Given the description of an element on the screen output the (x, y) to click on. 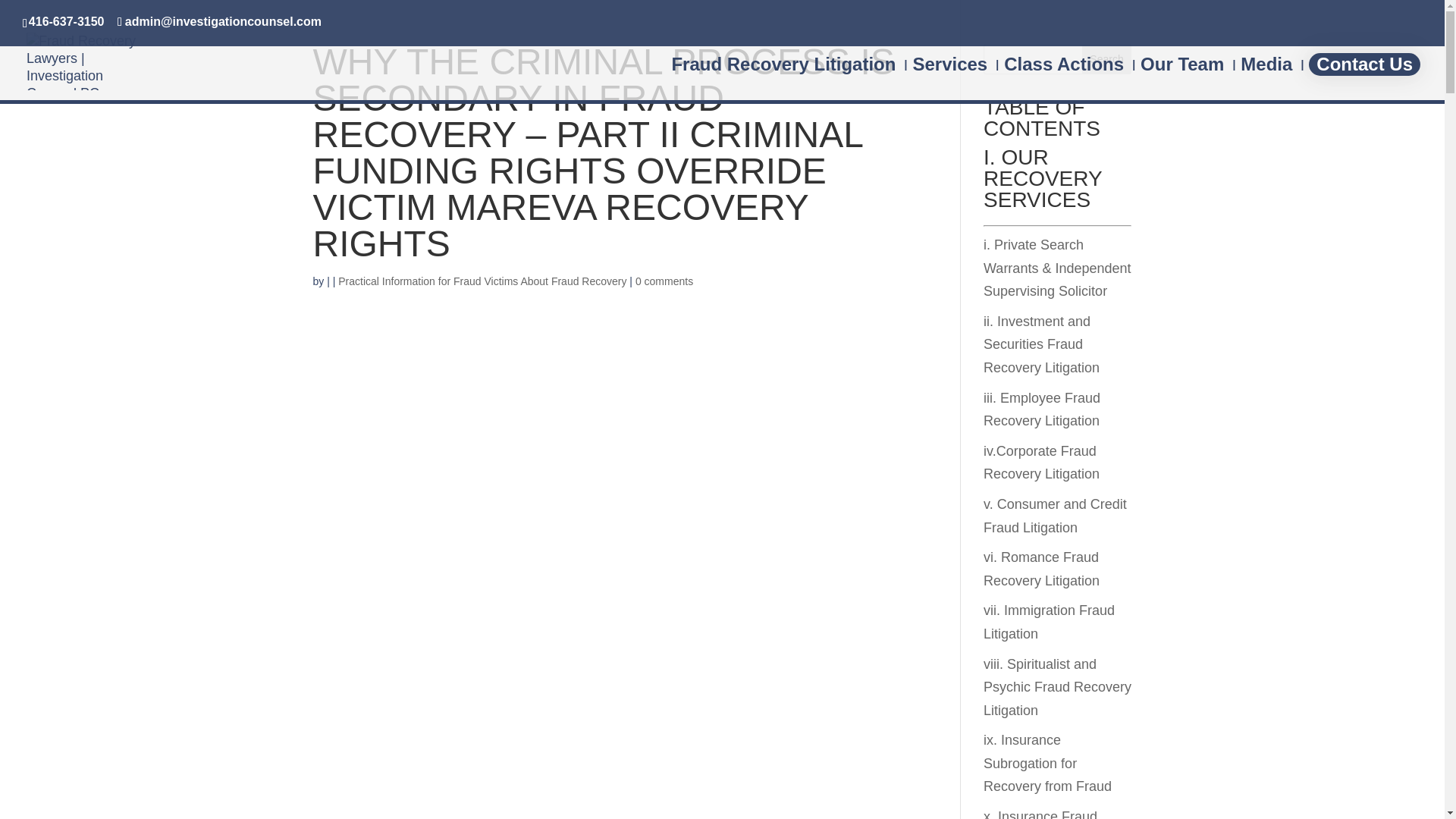
Class Actions (1064, 78)
v. Consumer and Credit Fraud Litigation (1055, 515)
Media (1266, 78)
Search (1106, 59)
Services (949, 78)
0 comments (663, 281)
ii. Investment and Securities Fraud Recovery Litigation (1041, 344)
Our Team (1182, 78)
Fraud Recovery Litigation (783, 78)
iii. Employee Fraud Recovery Litigation (1042, 409)
